Given the description of an element on the screen output the (x, y) to click on. 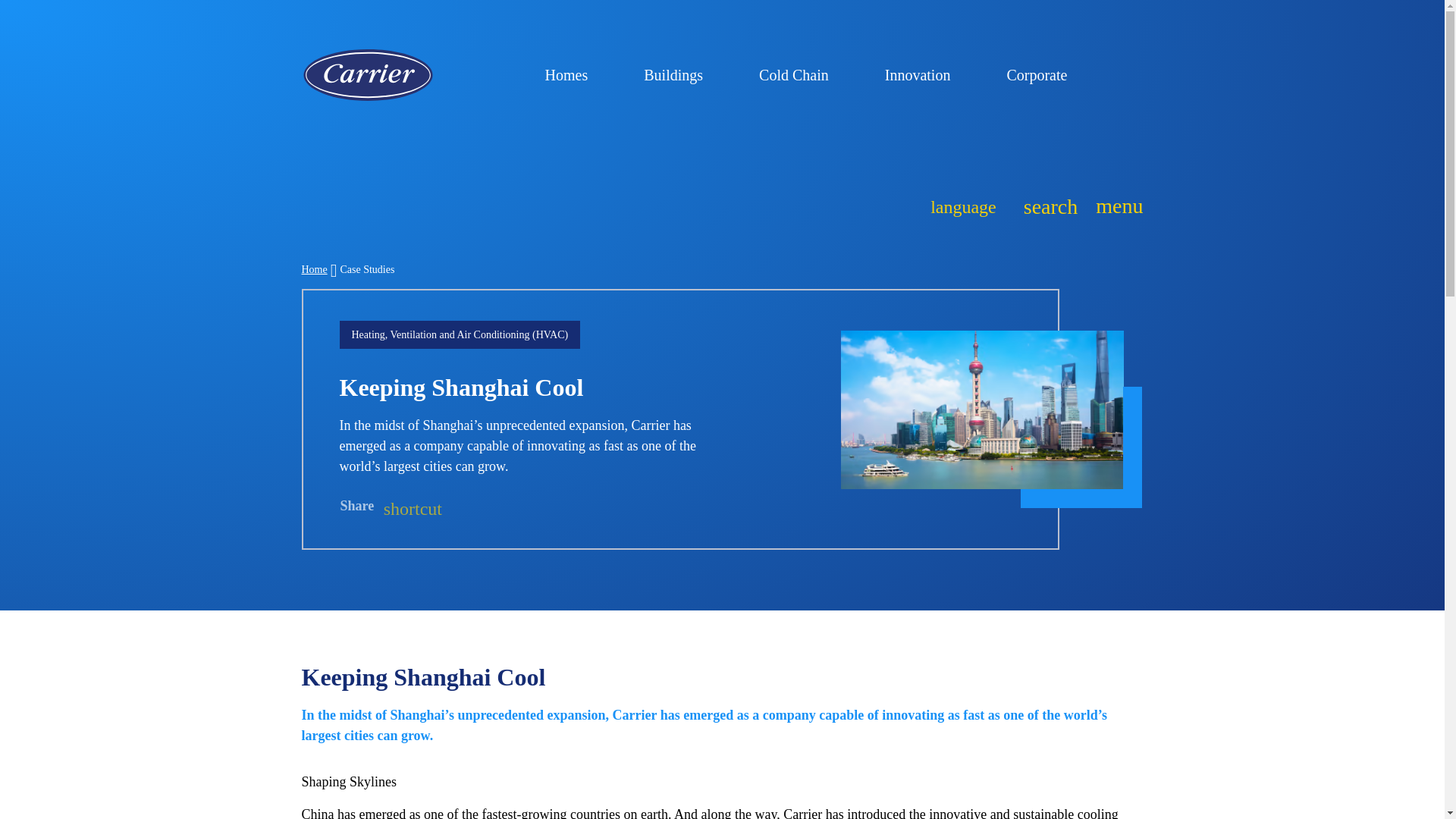
Home (314, 268)
search (1046, 205)
Share shortcut (391, 506)
language (962, 205)
Innovation (924, 74)
Cold Chain (1114, 206)
Buildings (800, 74)
Corporate (680, 74)
Homes (1043, 74)
